Given the description of an element on the screen output the (x, y) to click on. 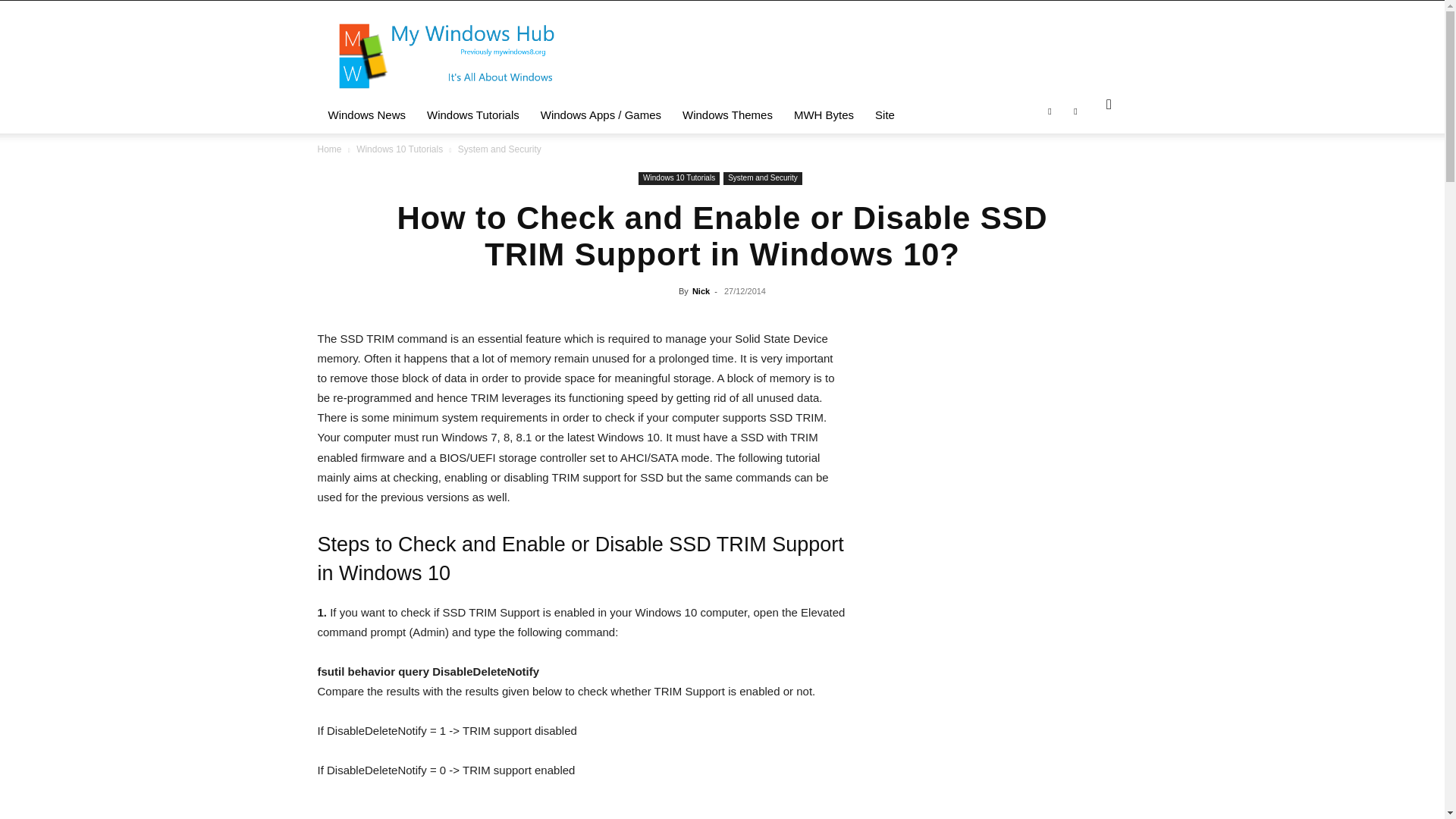
Windows Apps and Games (600, 115)
Site (884, 115)
Windows Tutorials (472, 115)
Windows Tutorials (472, 115)
Windows News (366, 115)
Windows Themes (727, 115)
Windows 8 news, gadgets and updats (366, 115)
MWH Bytes (823, 115)
